Given the description of an element on the screen output the (x, y) to click on. 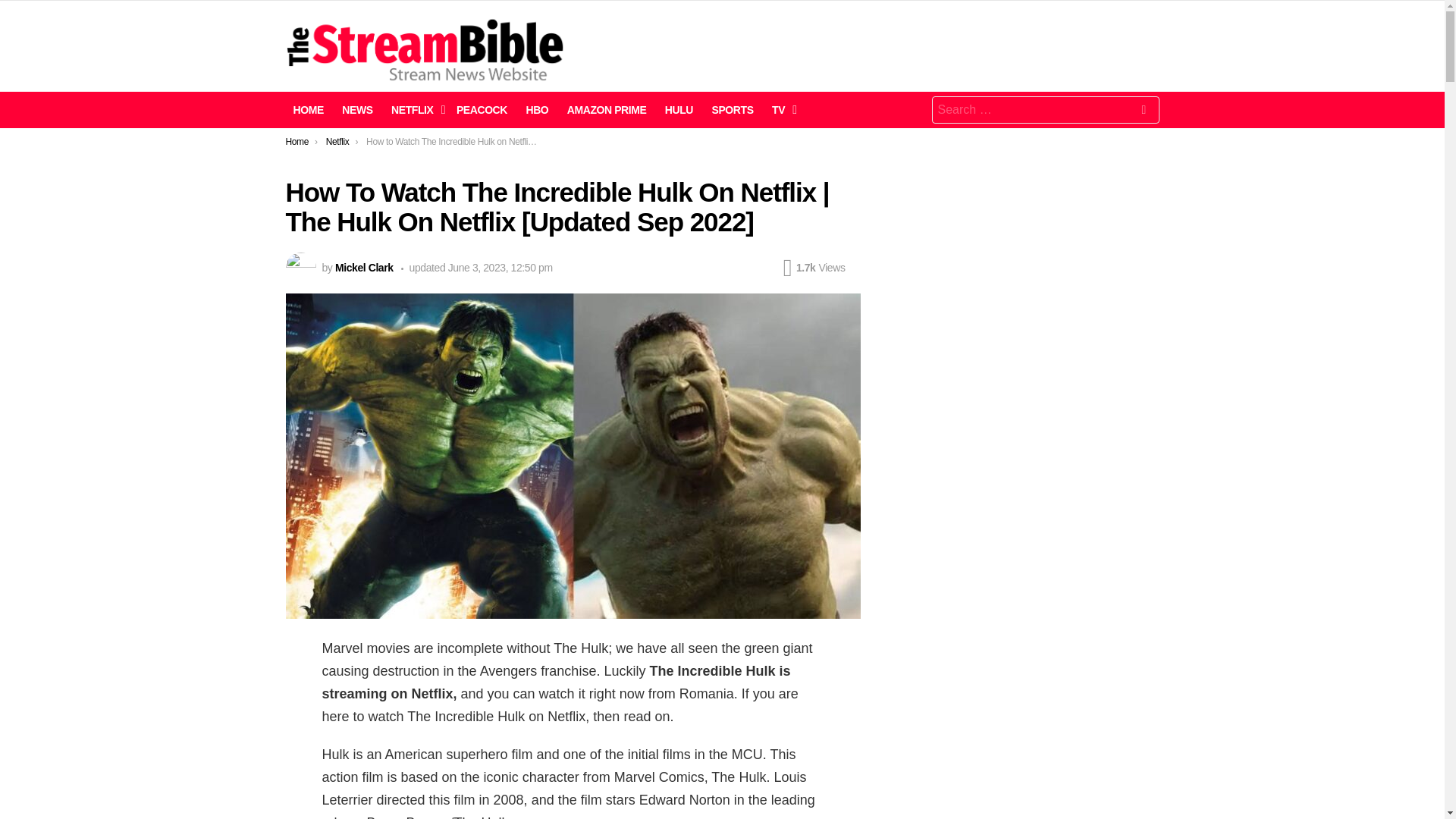
Netflix (337, 141)
HULU (679, 109)
NETFLIX (414, 109)
Search for: (1044, 109)
Mickel Clark (363, 267)
AMAZON PRIME (606, 109)
SEARCH (1143, 111)
Home (296, 141)
SPORTS (731, 109)
HBO (537, 109)
